Given the description of an element on the screen output the (x, y) to click on. 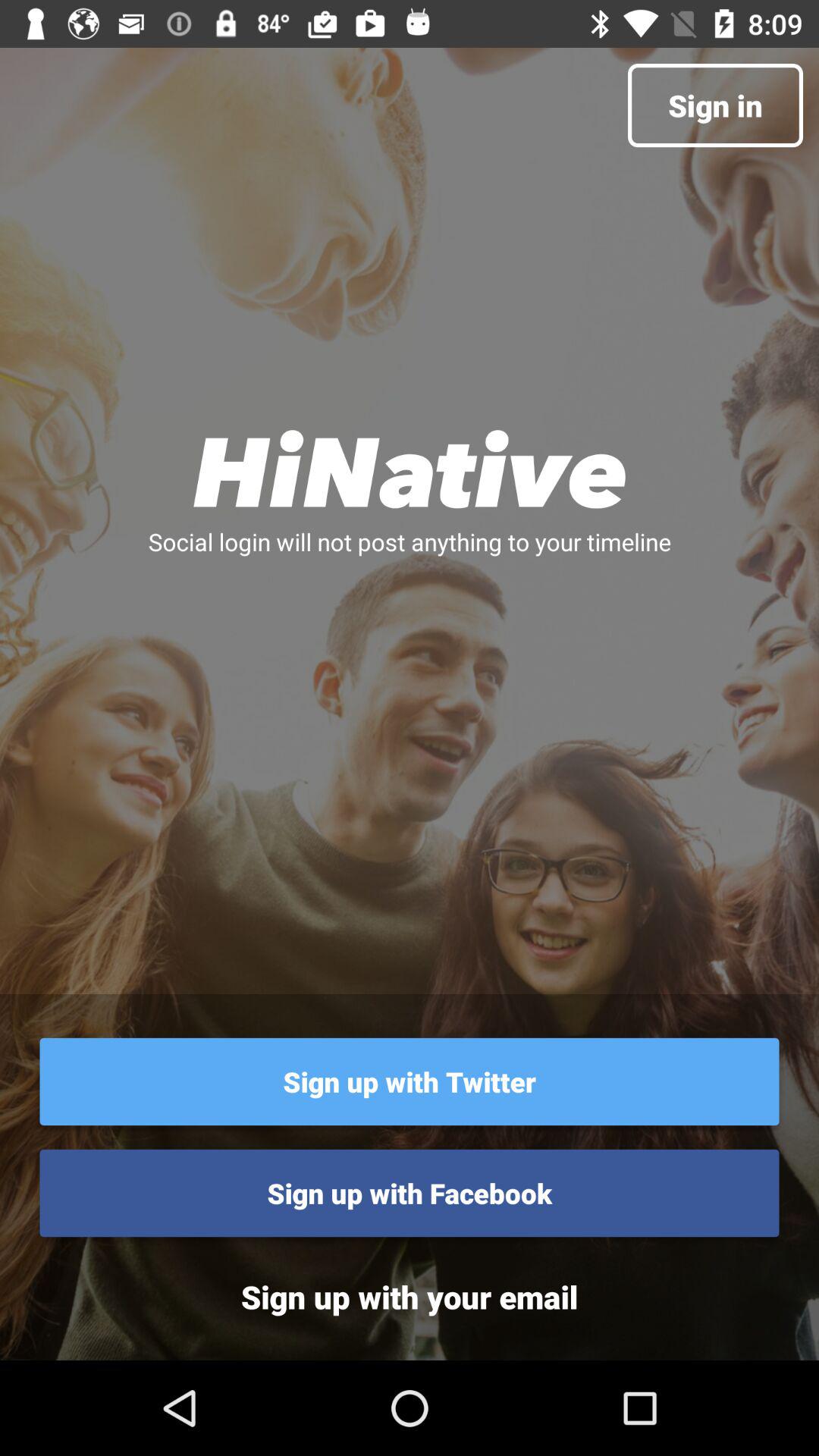
turn off the icon below the sign in (409, 468)
